Given the description of an element on the screen output the (x, y) to click on. 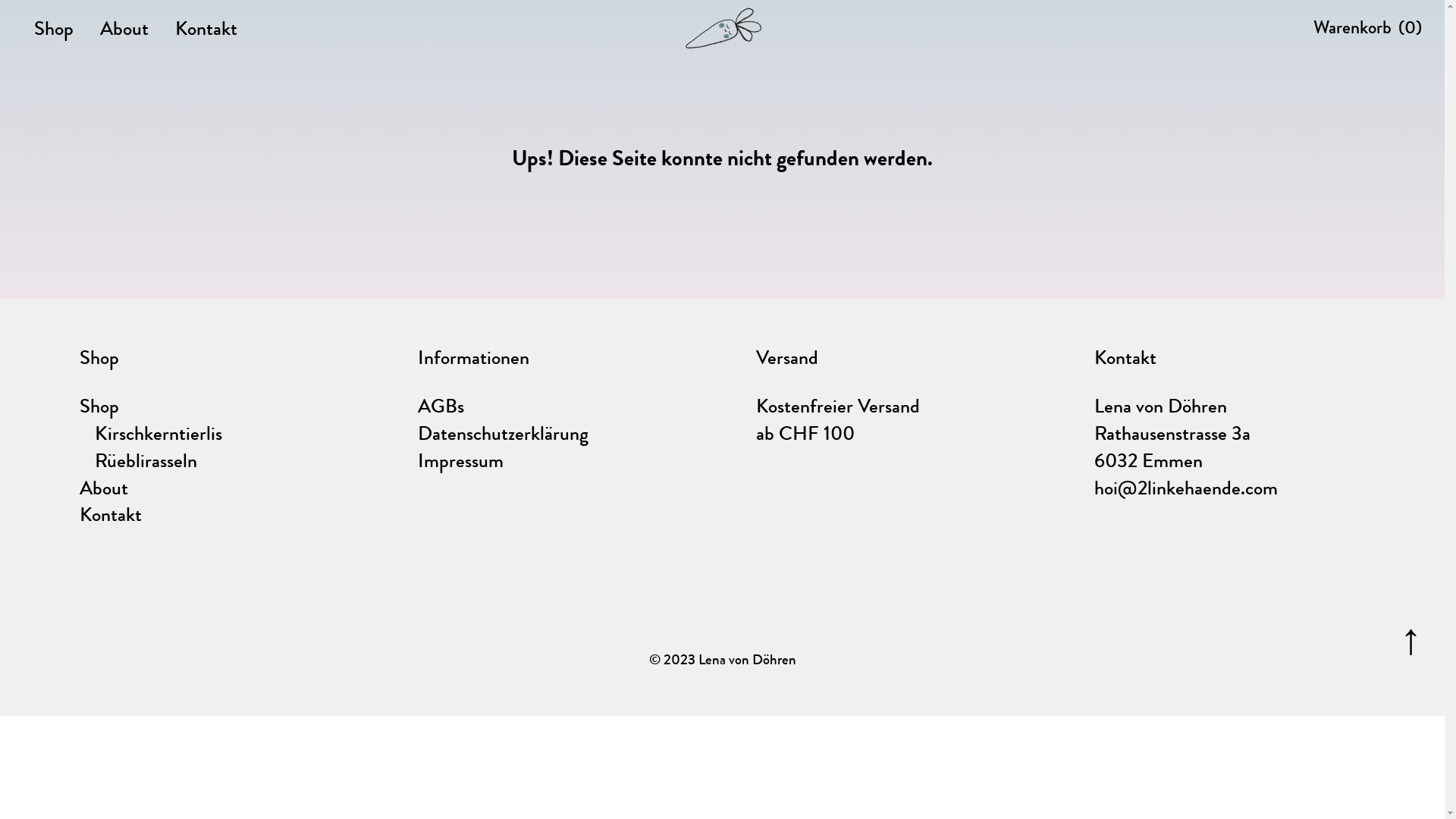
About Element type: text (124, 28)
AGBs Element type: text (440, 406)
Kontakt Element type: text (110, 514)
Warenkorb 0 Element type: text (1367, 27)
Kontakt Element type: text (206, 28)
About Element type: text (103, 487)
Shop Element type: text (53, 28)
Kirschkerntierlis Element type: text (158, 433)
Shop Element type: text (99, 406)
hoi@2linkehaende.com Element type: text (1185, 487)
Impressum Element type: text (460, 460)
